Given the description of an element on the screen output the (x, y) to click on. 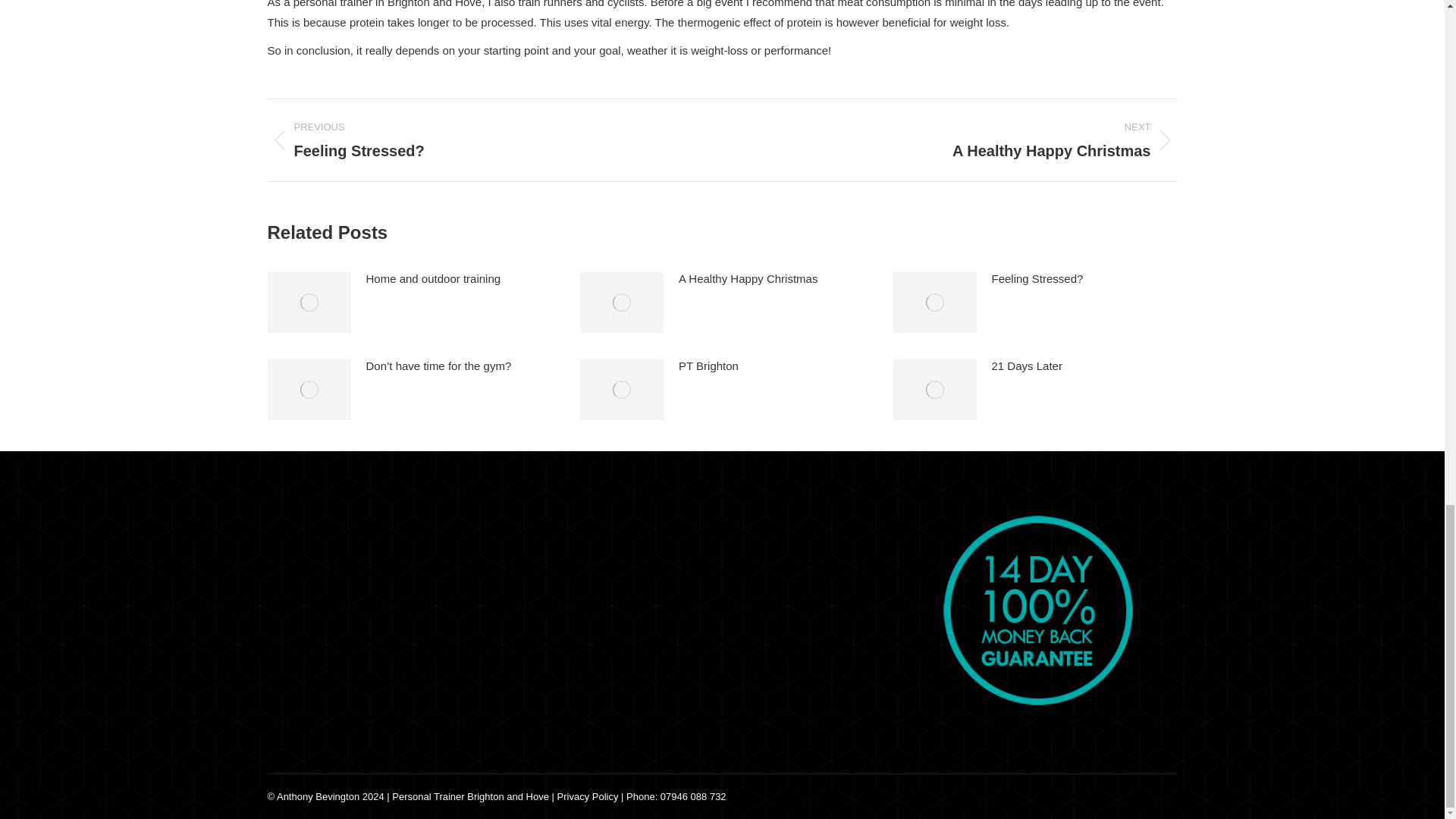
Feeling Stressed? (960, 139)
Home and outdoor training (1037, 278)
A Healthy Happy Christmas (432, 278)
